Given the description of an element on the screen output the (x, y) to click on. 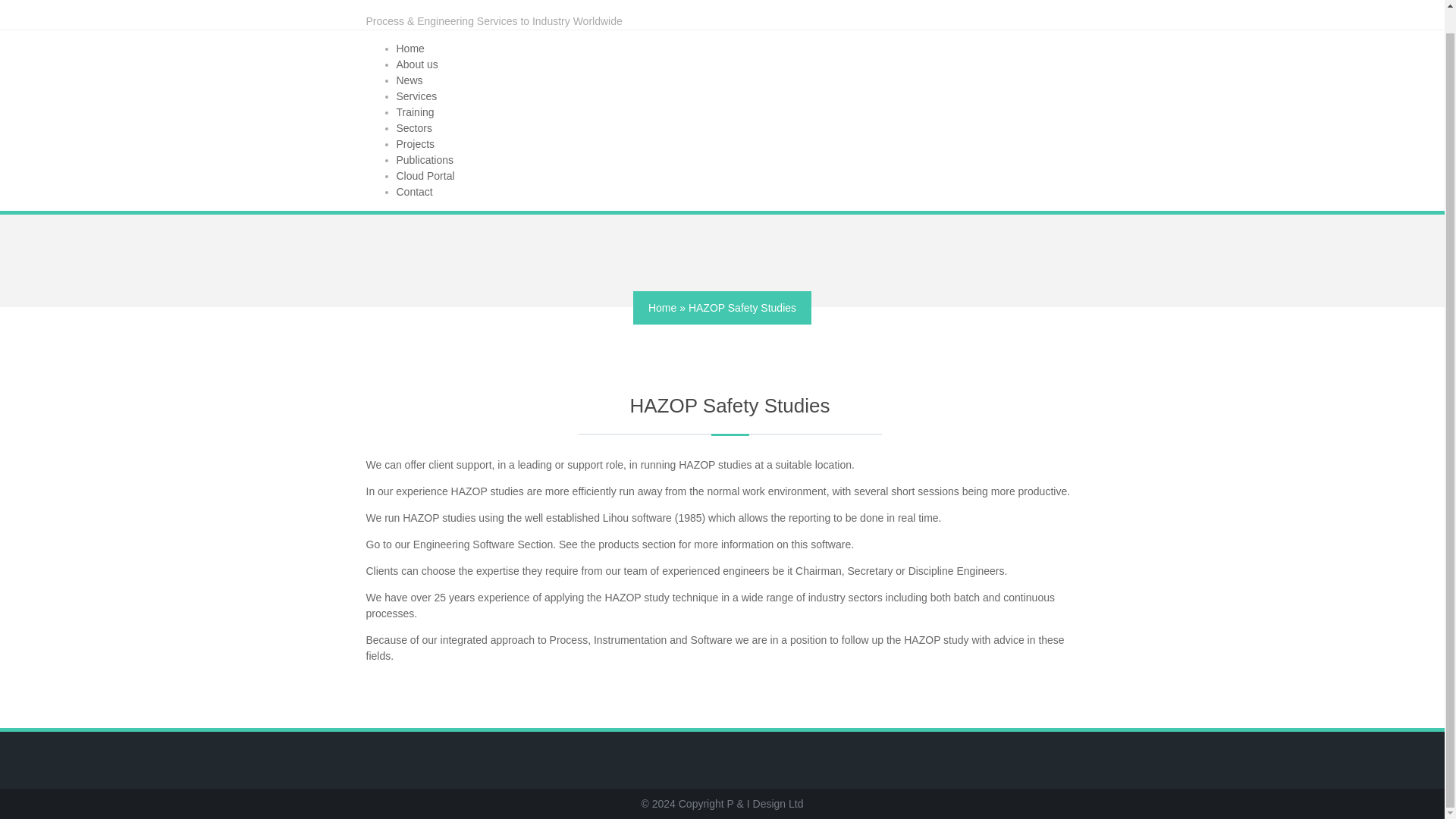
About us (417, 64)
Sectors (413, 128)
News (409, 80)
Home (409, 48)
Training (414, 111)
Services (416, 96)
Cloud Portal (425, 175)
Contact (414, 191)
Projects (414, 143)
Publications (424, 159)
Home (662, 307)
